Given the description of an element on the screen output the (x, y) to click on. 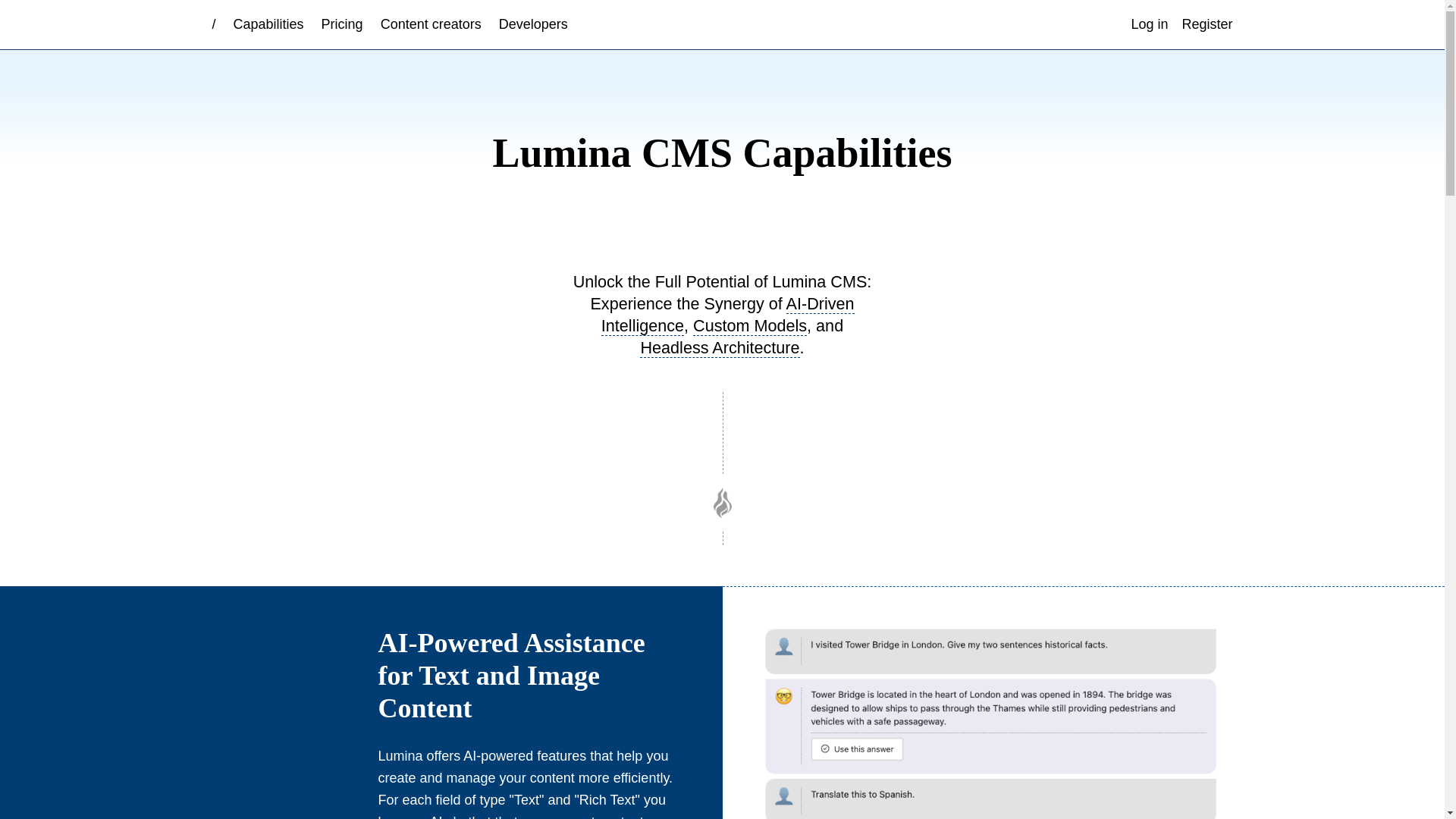
Developers (533, 24)
Headless Architecture (719, 347)
Content creators (430, 24)
Capabilities (269, 24)
Pricing (341, 24)
Custom Models (749, 325)
Log in (1149, 24)
AI-Driven Intelligence (727, 314)
Register (1206, 24)
